Given the description of an element on the screen output the (x, y) to click on. 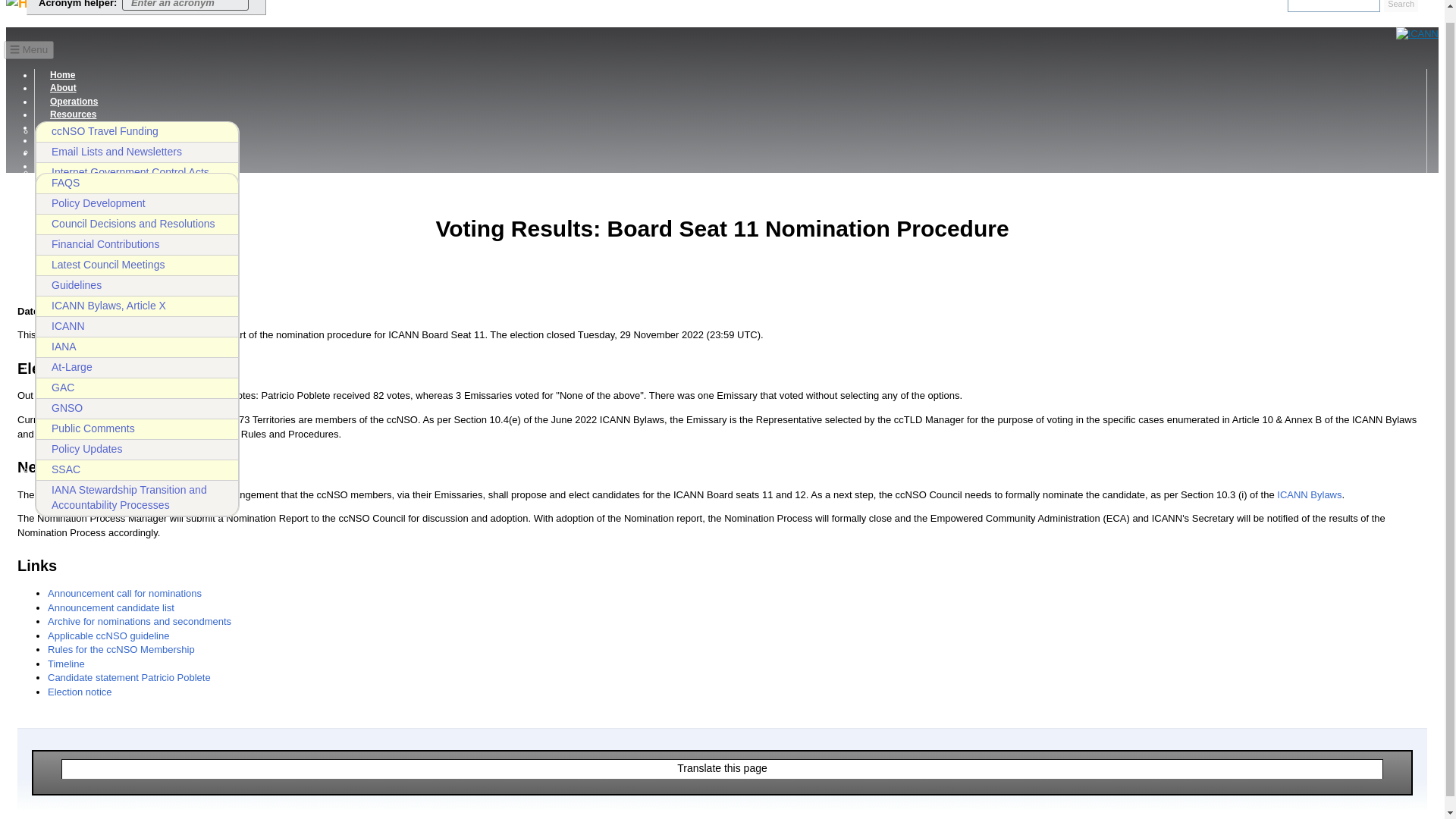
Announcement call for nominations (125, 593)
Internet Government Control Acts (137, 172)
IANA (137, 347)
Home (62, 75)
Search (1401, 6)
Email Lists and Newsletters (137, 152)
Enter the terms you wish to search for. (1333, 6)
Latest Council Meetings (137, 265)
IANA Stewardship Transition and Accountability Processes (137, 497)
Announcement candidate list (111, 607)
